Given the description of an element on the screen output the (x, y) to click on. 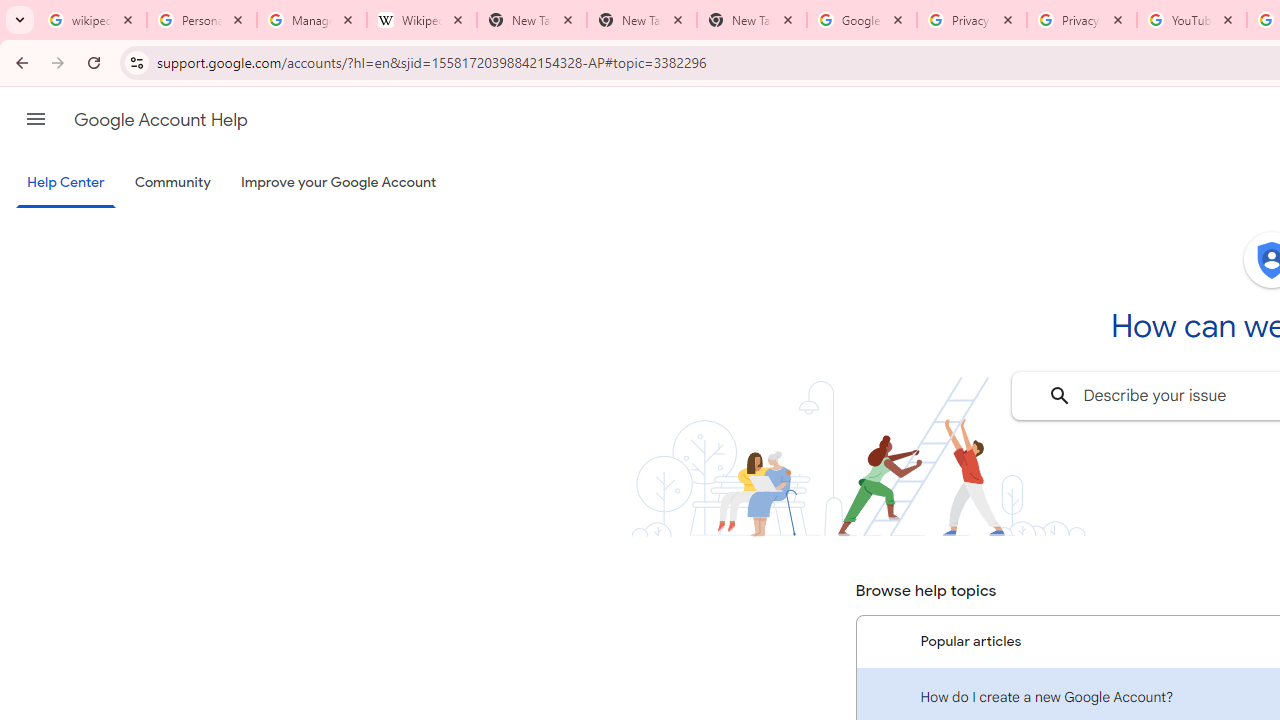
New Tab (752, 20)
Help Center (65, 183)
Search (1059, 395)
Google Account Help (160, 119)
Manage your Location History - Google Search Help (312, 20)
YouTube (1191, 20)
